Given the description of an element on the screen output the (x, y) to click on. 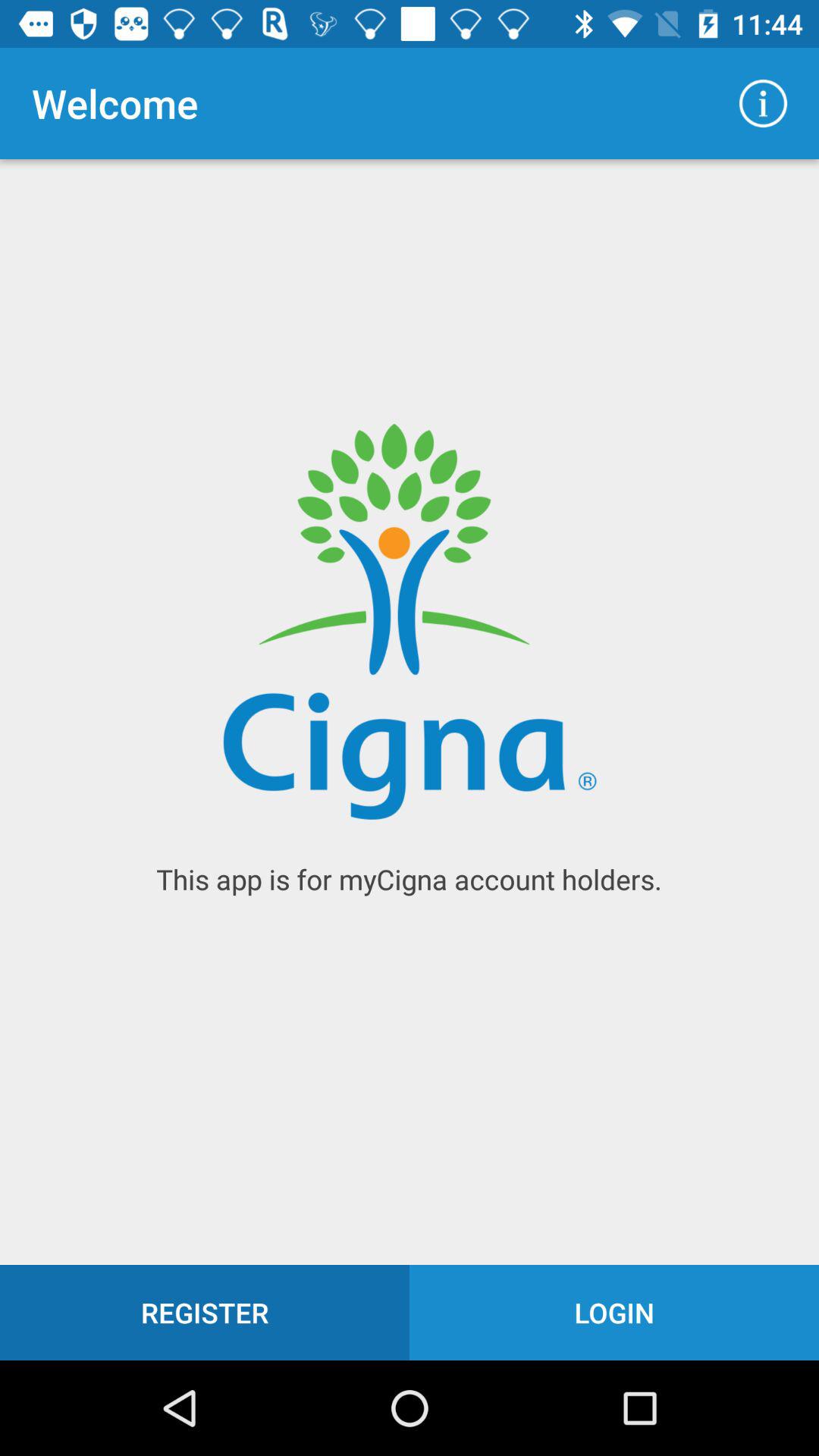
tap item to the right of the register icon (614, 1312)
